Given the description of an element on the screen output the (x, y) to click on. 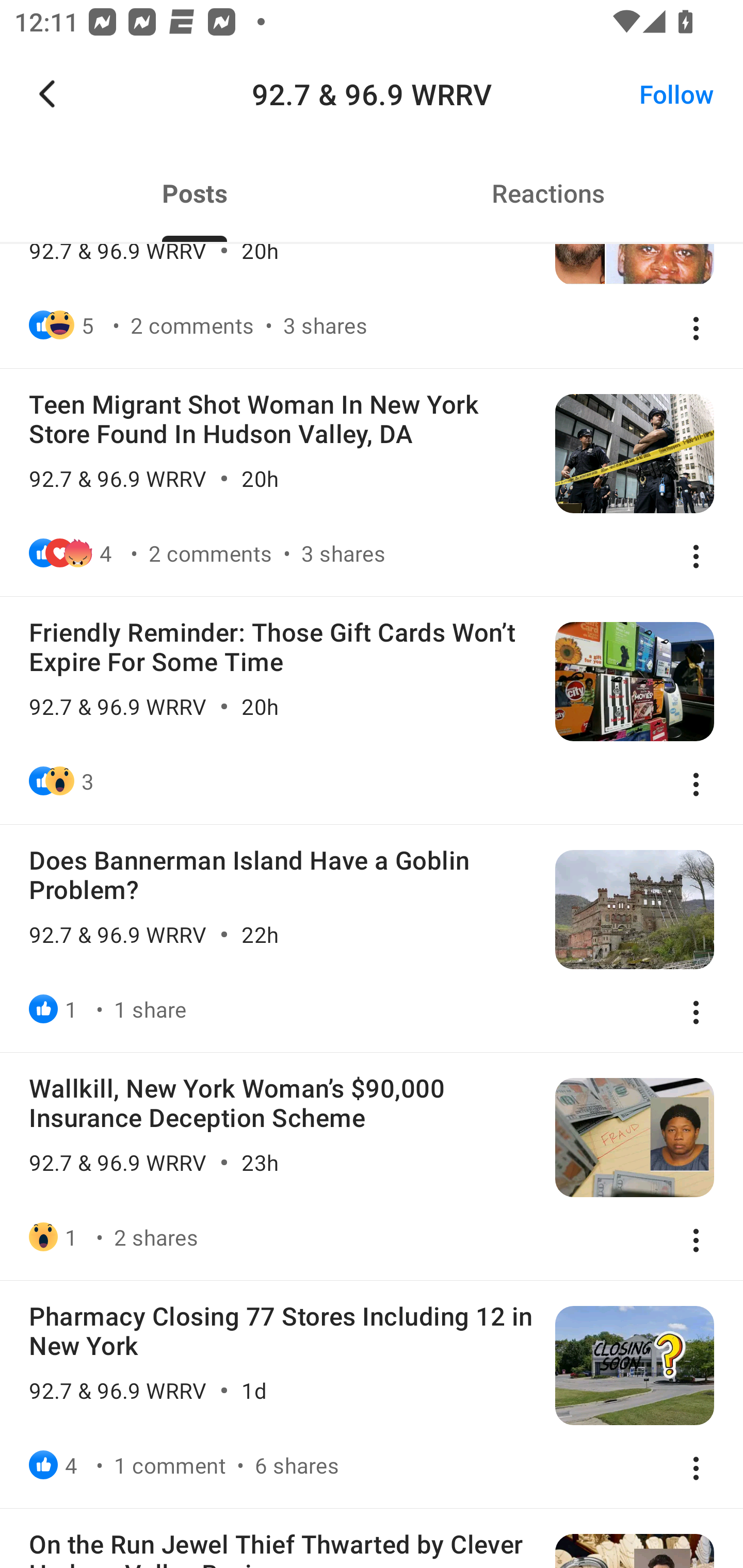
Follow (676, 93)
Reactions (548, 192)
